Given the description of an element on the screen output the (x, y) to click on. 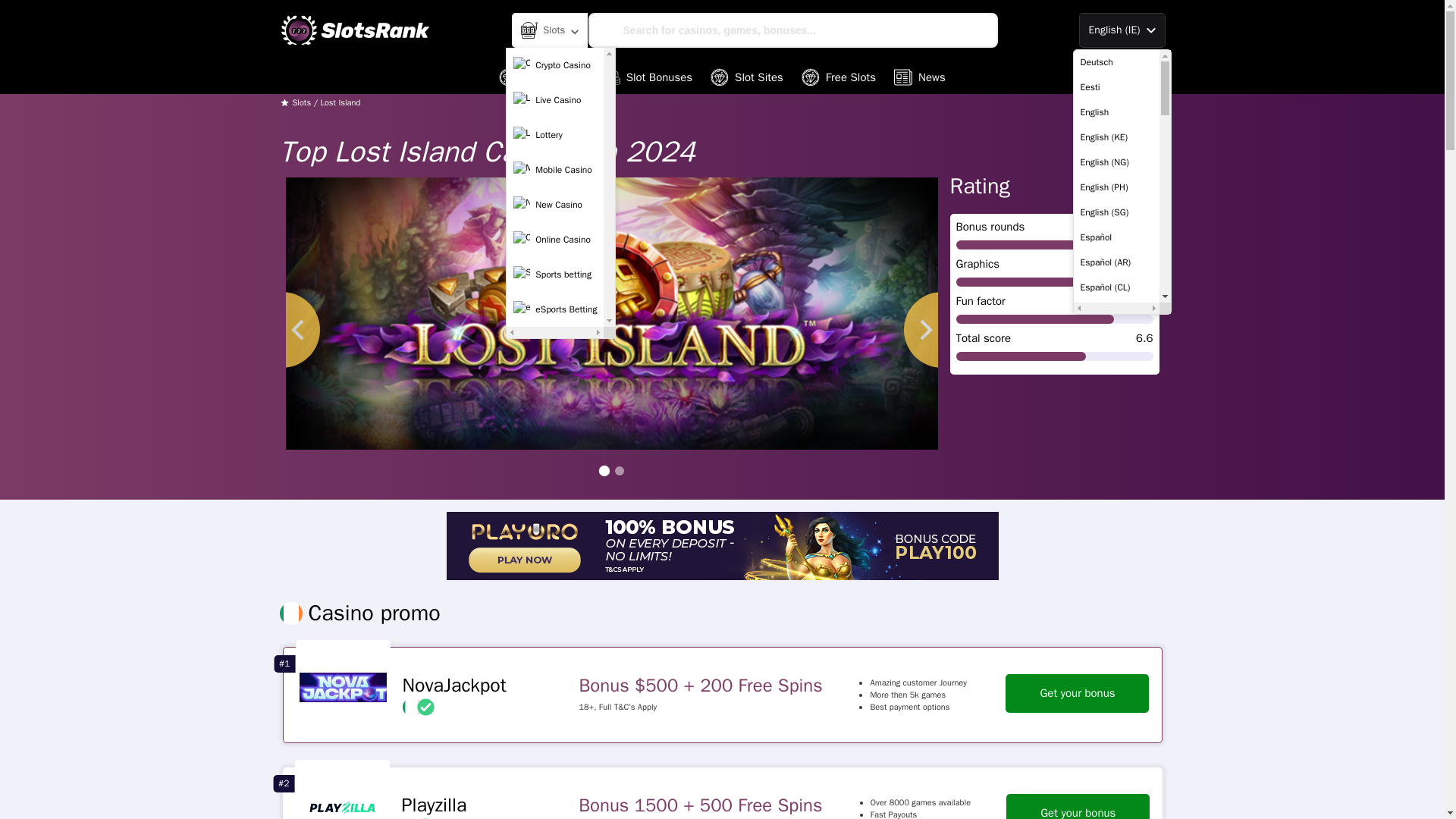
Lottery (554, 134)
Nederlands (1116, 562)
Melayu (1116, 537)
Mobile Casino (554, 169)
Deutsch (1116, 62)
Eesti (1116, 87)
Svenska (1116, 763)
Sports betting (554, 274)
Polski (1116, 637)
Italiano (1116, 437)
New Casino (554, 204)
Indonesia (1116, 412)
Crypto Casino (554, 64)
English (1116, 112)
Magyar (1116, 512)
